Given the description of an element on the screen output the (x, y) to click on. 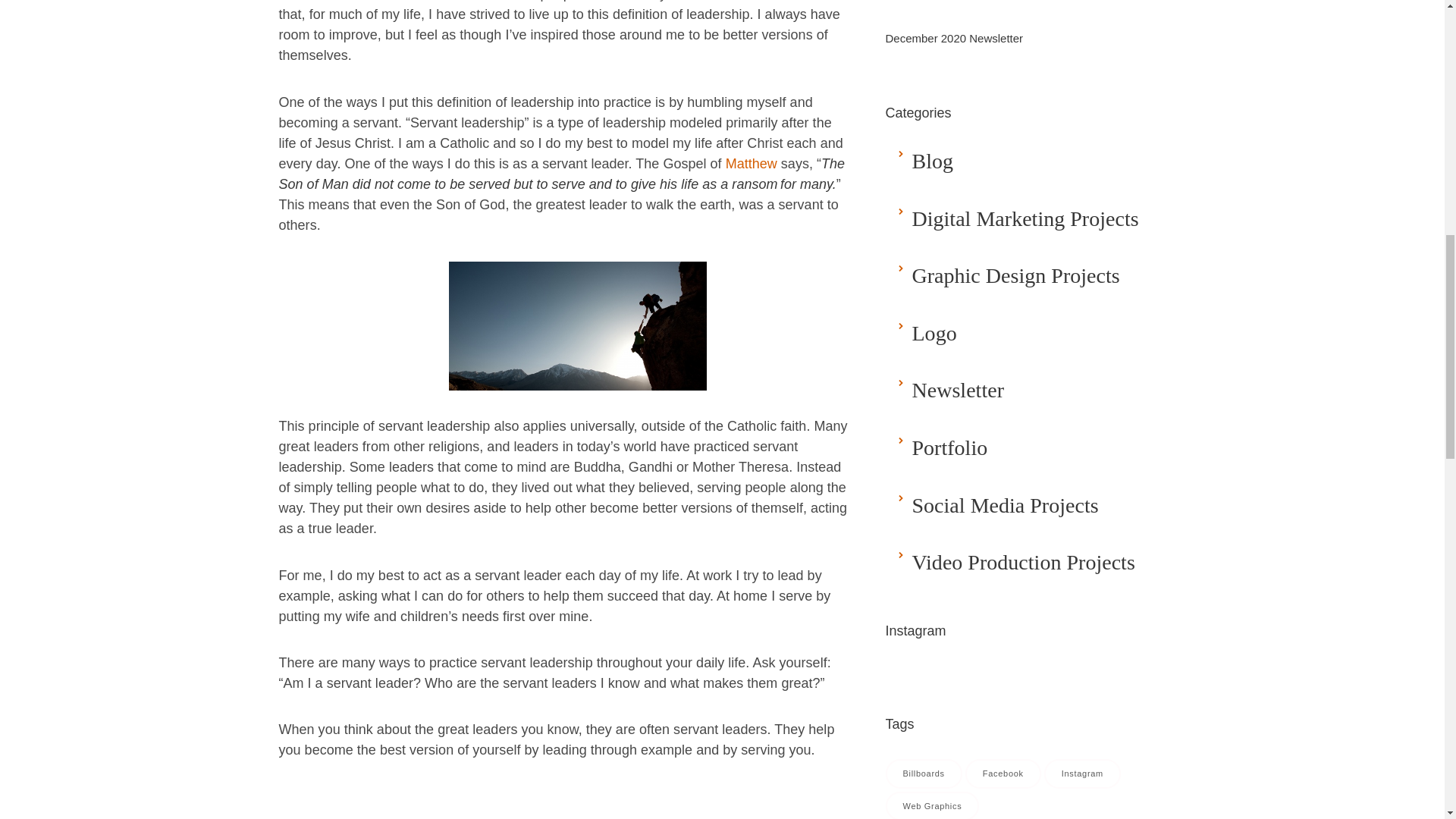
Social Media Projects (1004, 504)
Em-Media Newsletter (957, 390)
Digital Marketing Projects (1024, 218)
Graphic Design Projects (1015, 275)
Video Production Projects (1022, 562)
